Given the description of an element on the screen output the (x, y) to click on. 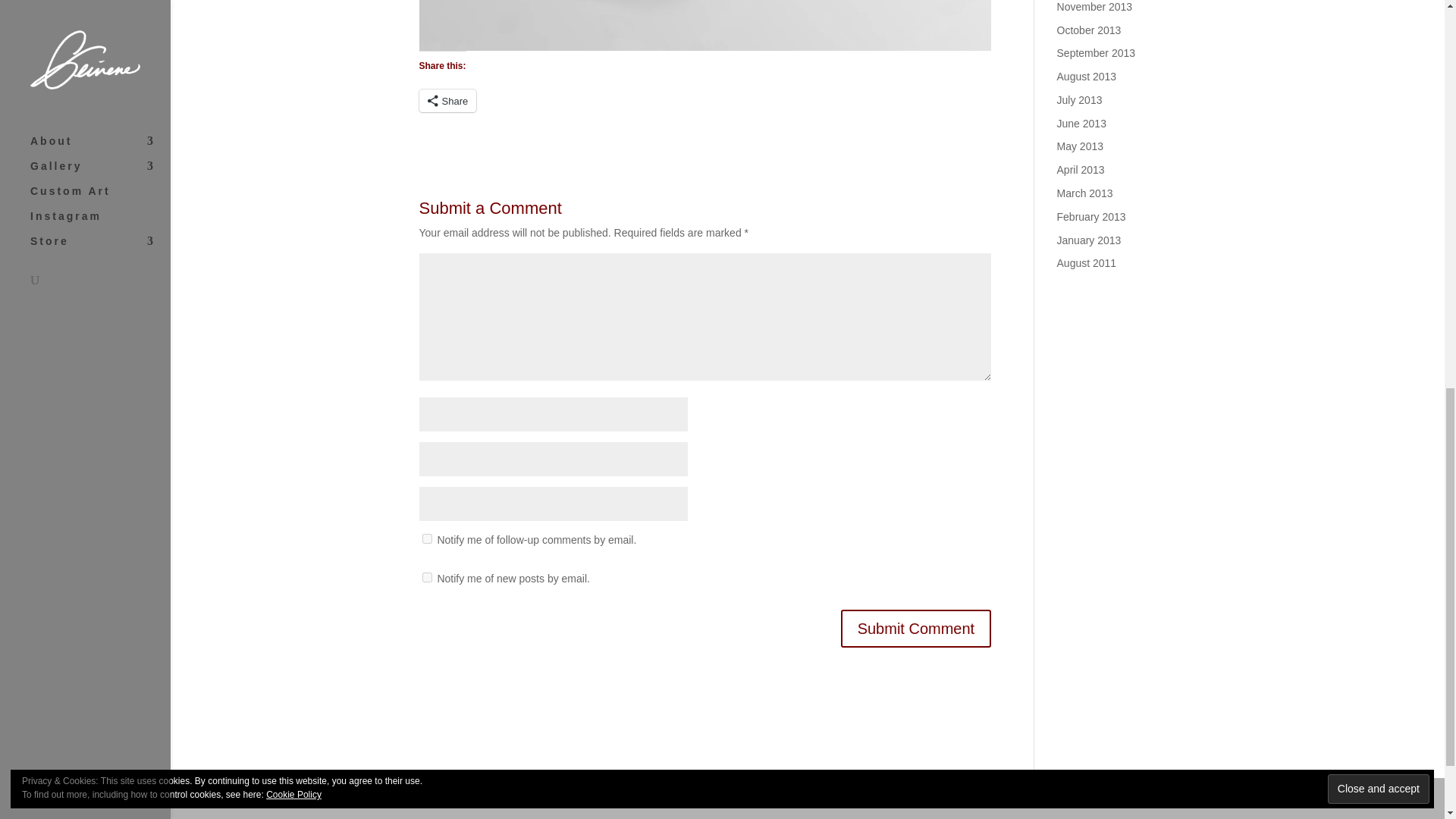
subscribe (426, 538)
Submit Comment (916, 628)
subscribe (426, 577)
